Given the description of an element on the screen output the (x, y) to click on. 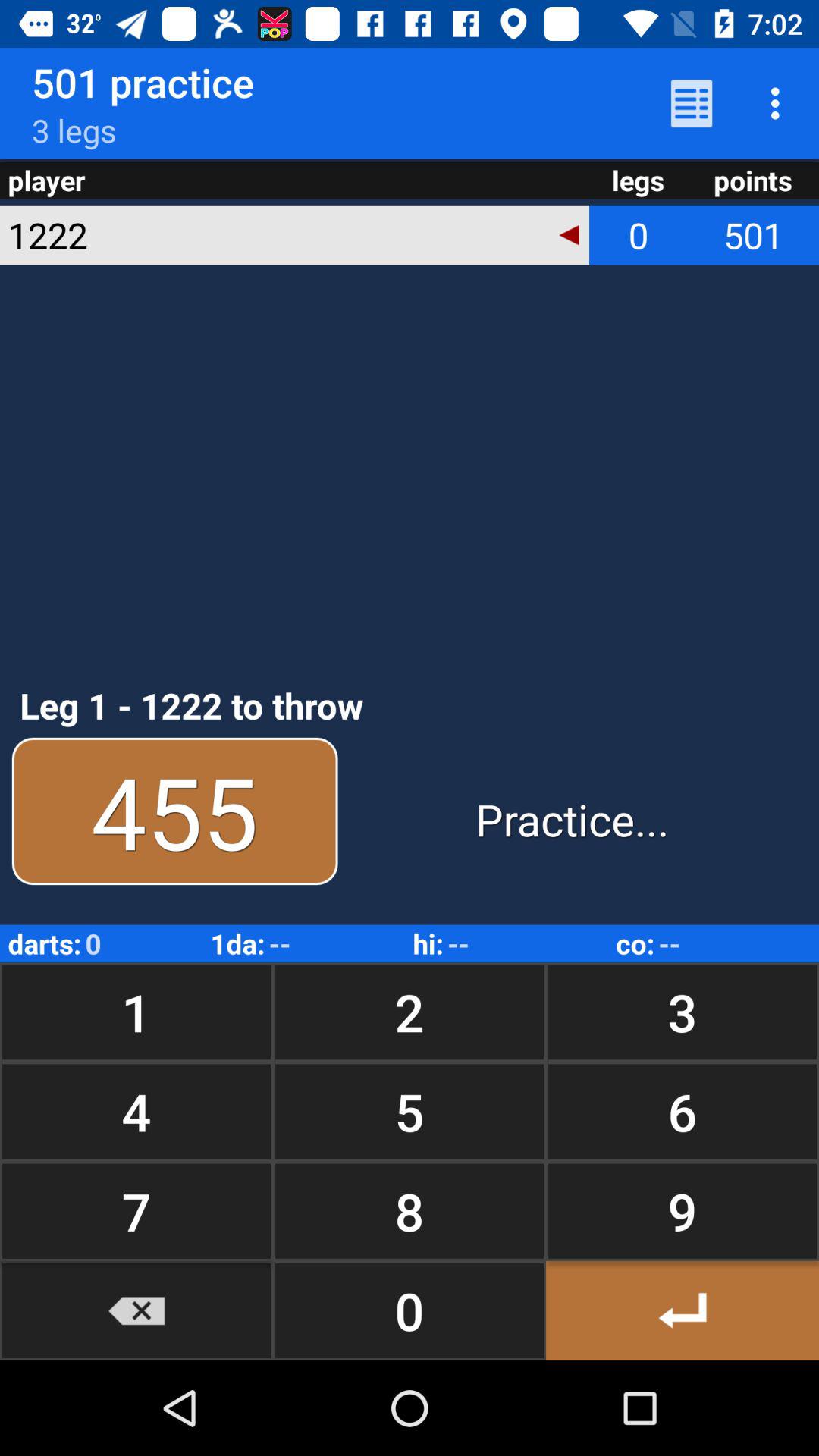
tap the item to the left of 2 icon (136, 1111)
